Given the description of an element on the screen output the (x, y) to click on. 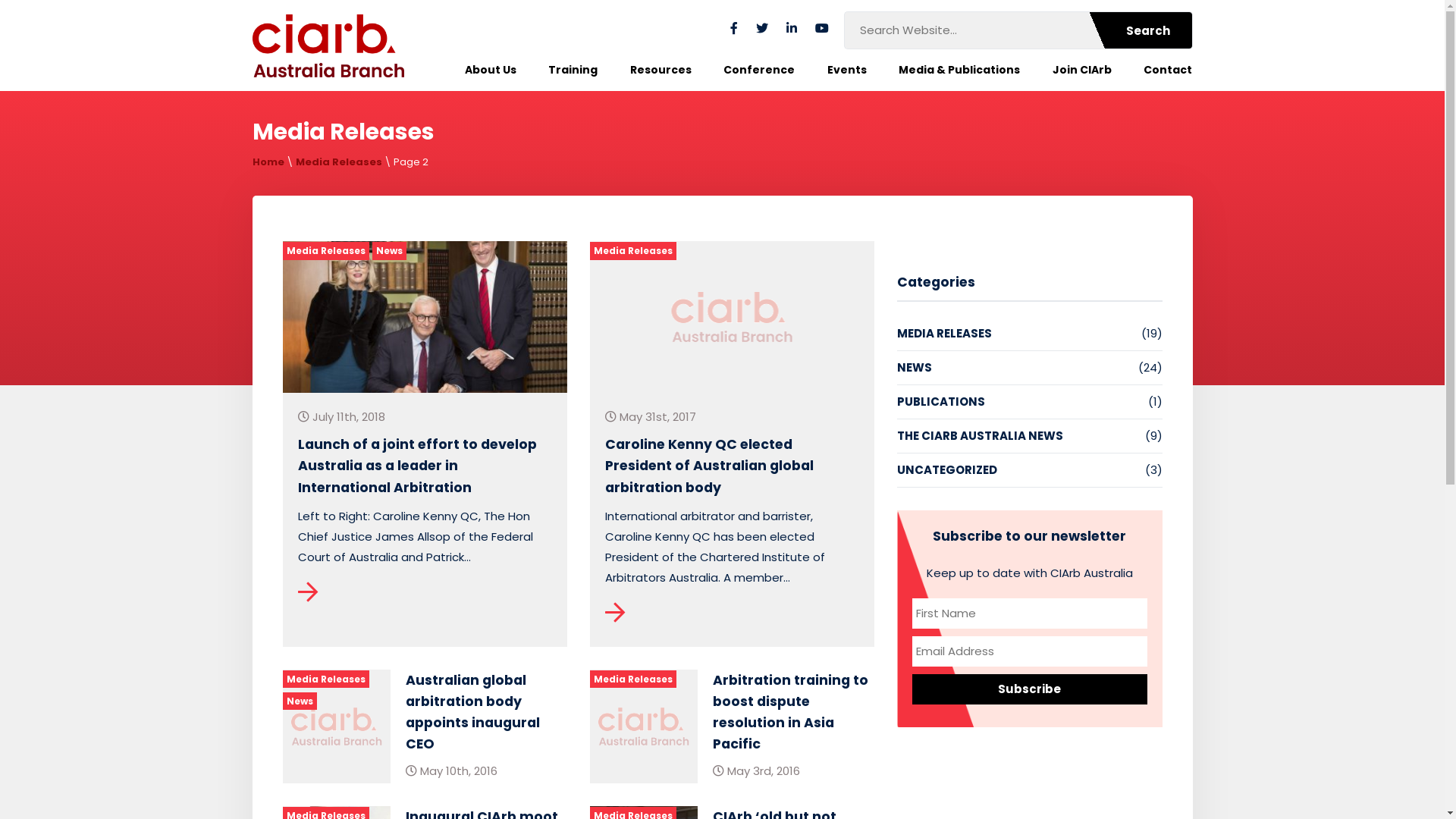
Home Element type: text (267, 161)
Resources Element type: text (660, 69)
NEWS Element type: text (913, 367)
UNCATEGORIZED Element type: text (946, 470)
About Us Element type: text (489, 69)
News Element type: text (299, 700)
Search Element type: text (1135, 30)
Media Releases Element type: text (325, 678)
Media Releases Element type: text (632, 250)
Media Releases Element type: text (632, 678)
Events Element type: text (846, 69)
Media & Publications Element type: text (958, 69)
Australian global arbitration body appoints inaugural CEO Element type: text (471, 712)
Subscribe Element type: text (1028, 689)
Media Releases Element type: text (338, 161)
Join CIArb Element type: text (1081, 69)
MEDIA RELEASES Element type: text (943, 333)
Contact Element type: text (1167, 69)
Chartered Institute of Arbitrators Australia Element type: text (327, 45)
Training Element type: text (572, 69)
News Element type: text (388, 250)
PUBLICATIONS Element type: text (940, 401)
Conference Element type: text (758, 69)
THE CIARB AUSTRALIA NEWS Element type: text (979, 435)
Media Releases Element type: text (325, 250)
